Given the description of an element on the screen output the (x, y) to click on. 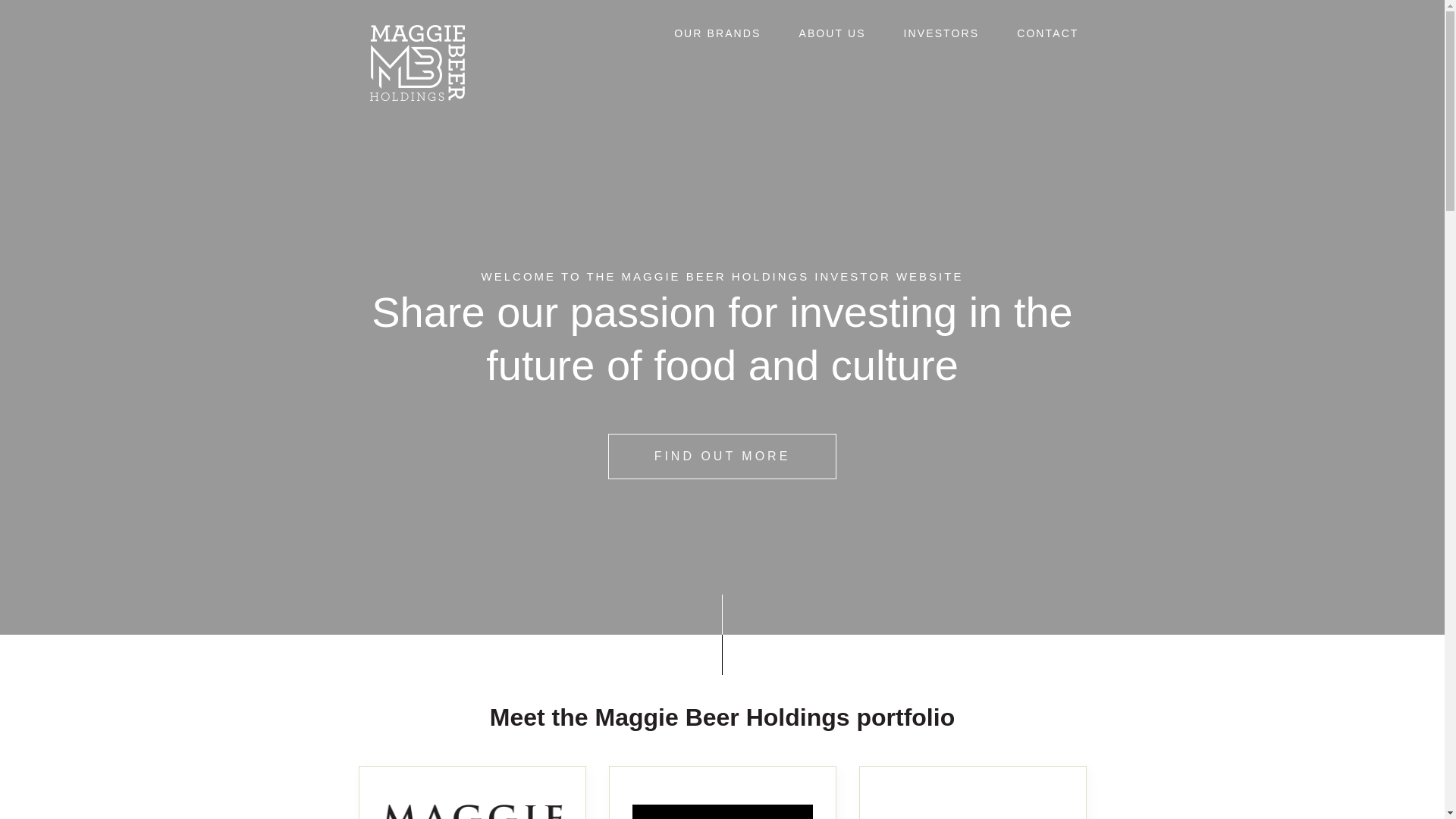
FIND OUT MORE Element type: text (722, 456)
OUR BRANDS Element type: text (717, 33)
INVESTORS Element type: text (941, 33)
CONTACT Element type: text (1047, 33)
ABOUT US Element type: text (831, 33)
